Given the description of an element on the screen output the (x, y) to click on. 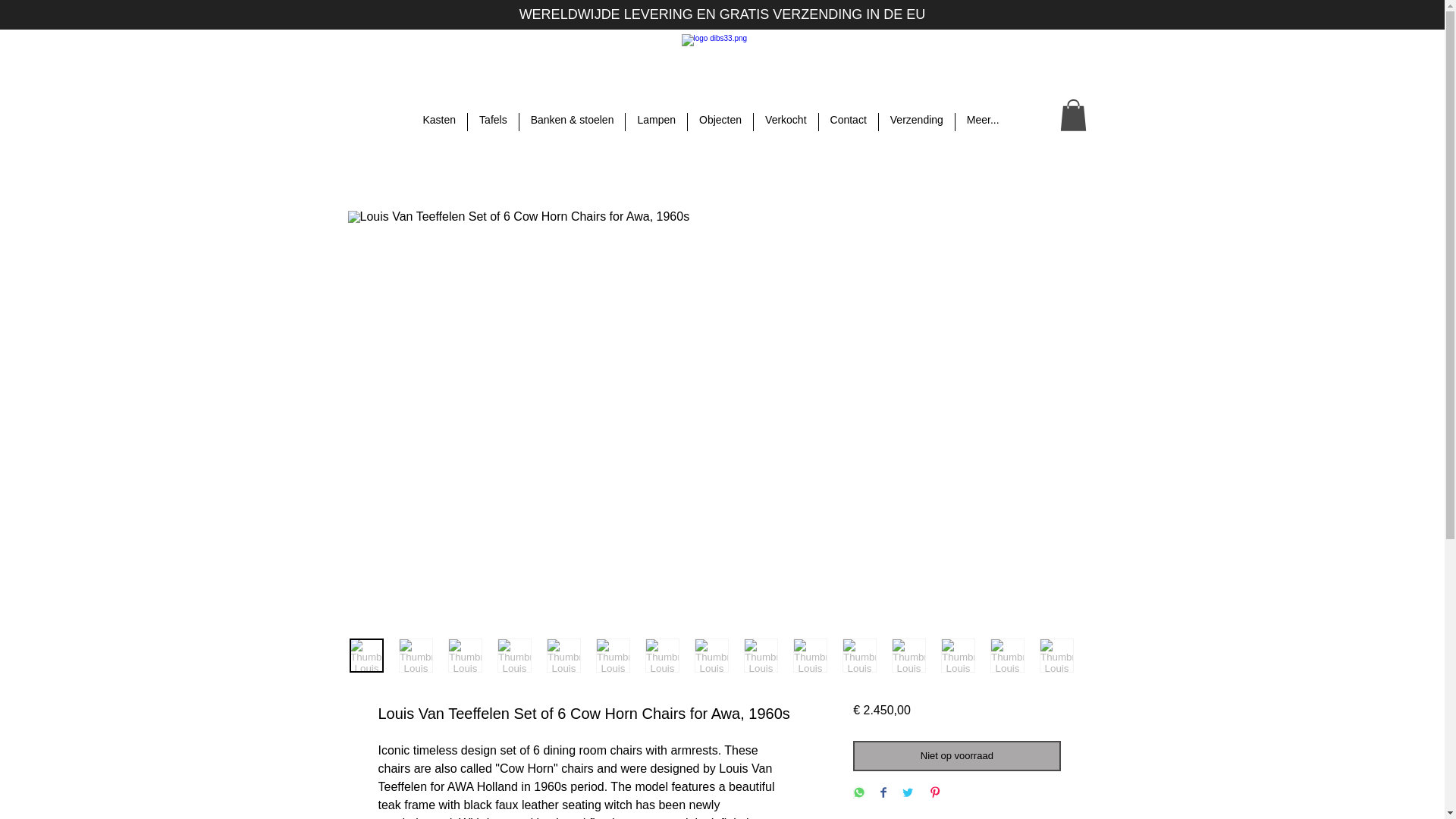
Verzending (917, 122)
Niet op voorraad (956, 756)
Tafels (492, 122)
Contact (847, 122)
Verkocht (785, 122)
Objecten (719, 122)
Lampen (656, 122)
Kasten (438, 122)
